Given the description of an element on the screen output the (x, y) to click on. 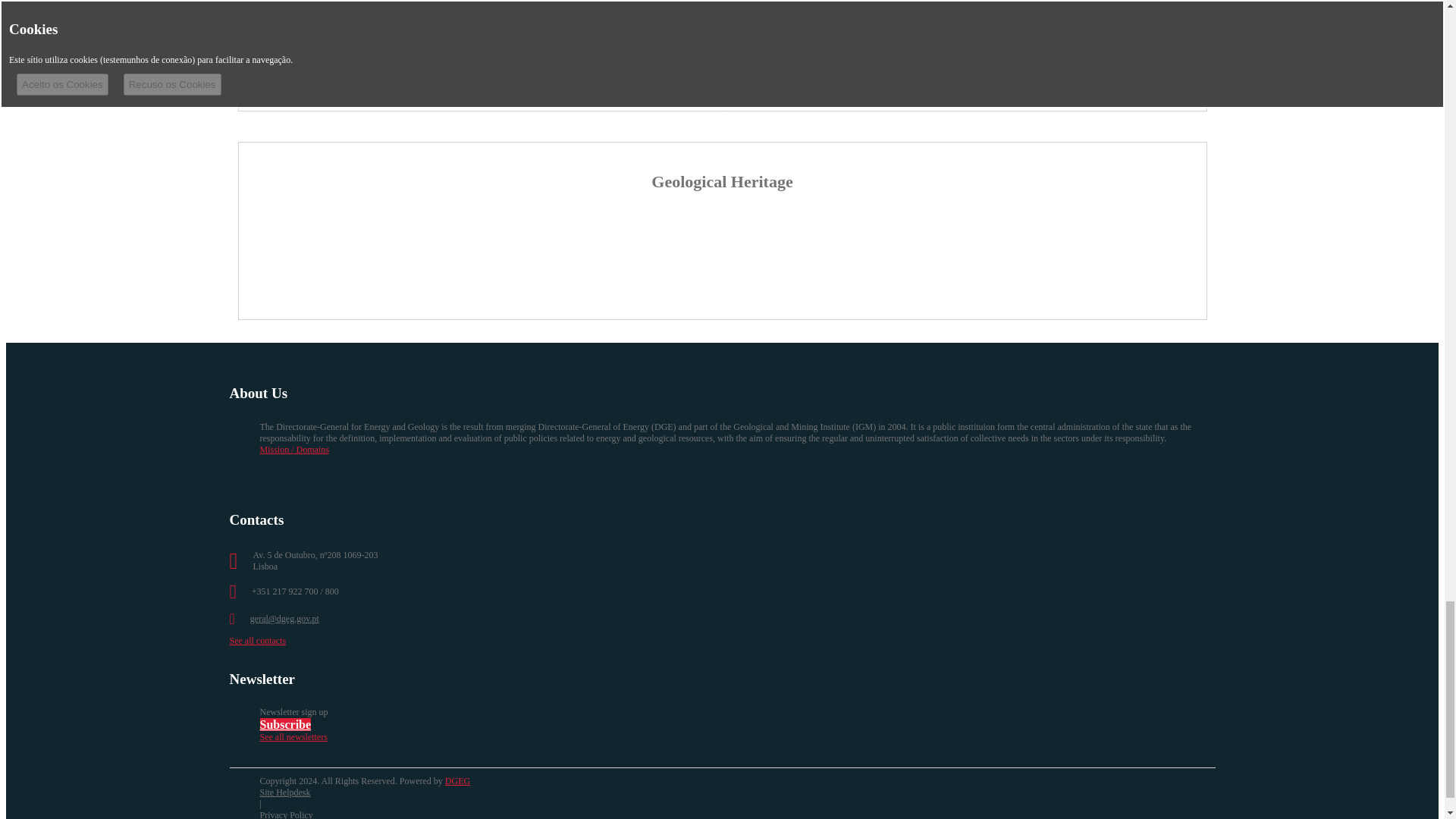
Support page (284, 792)
Privacy Policy (286, 814)
